Given the description of an element on the screen output the (x, y) to click on. 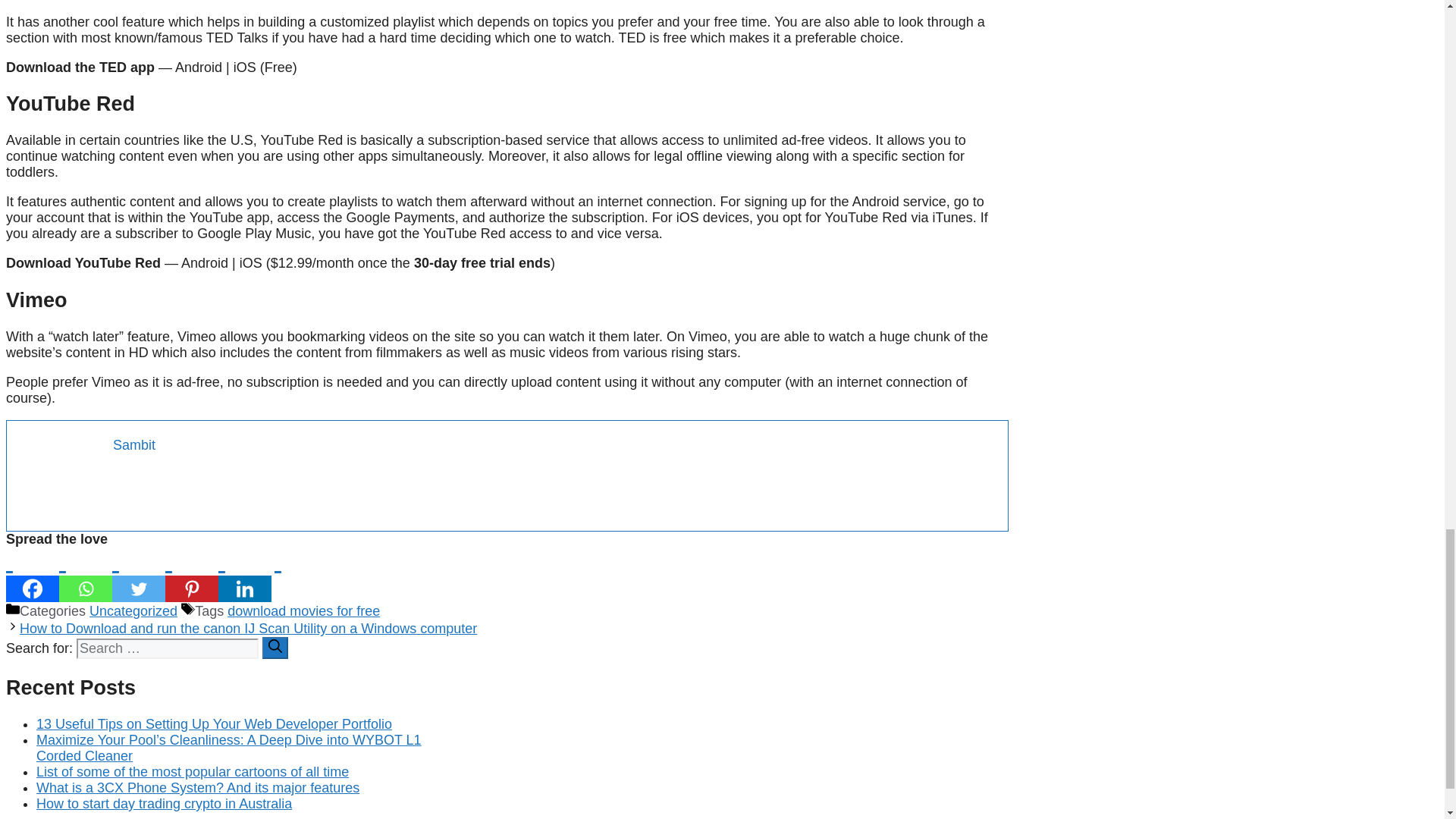
Total Shares (307, 588)
Search for: (168, 648)
Sambit (134, 444)
Whatsapp (85, 574)
Linkedin (244, 574)
How to start day trading crypto in Australia (164, 803)
What is a 3CX Phone System? And its major features (197, 787)
Twitter (138, 574)
